Given the description of an element on the screen output the (x, y) to click on. 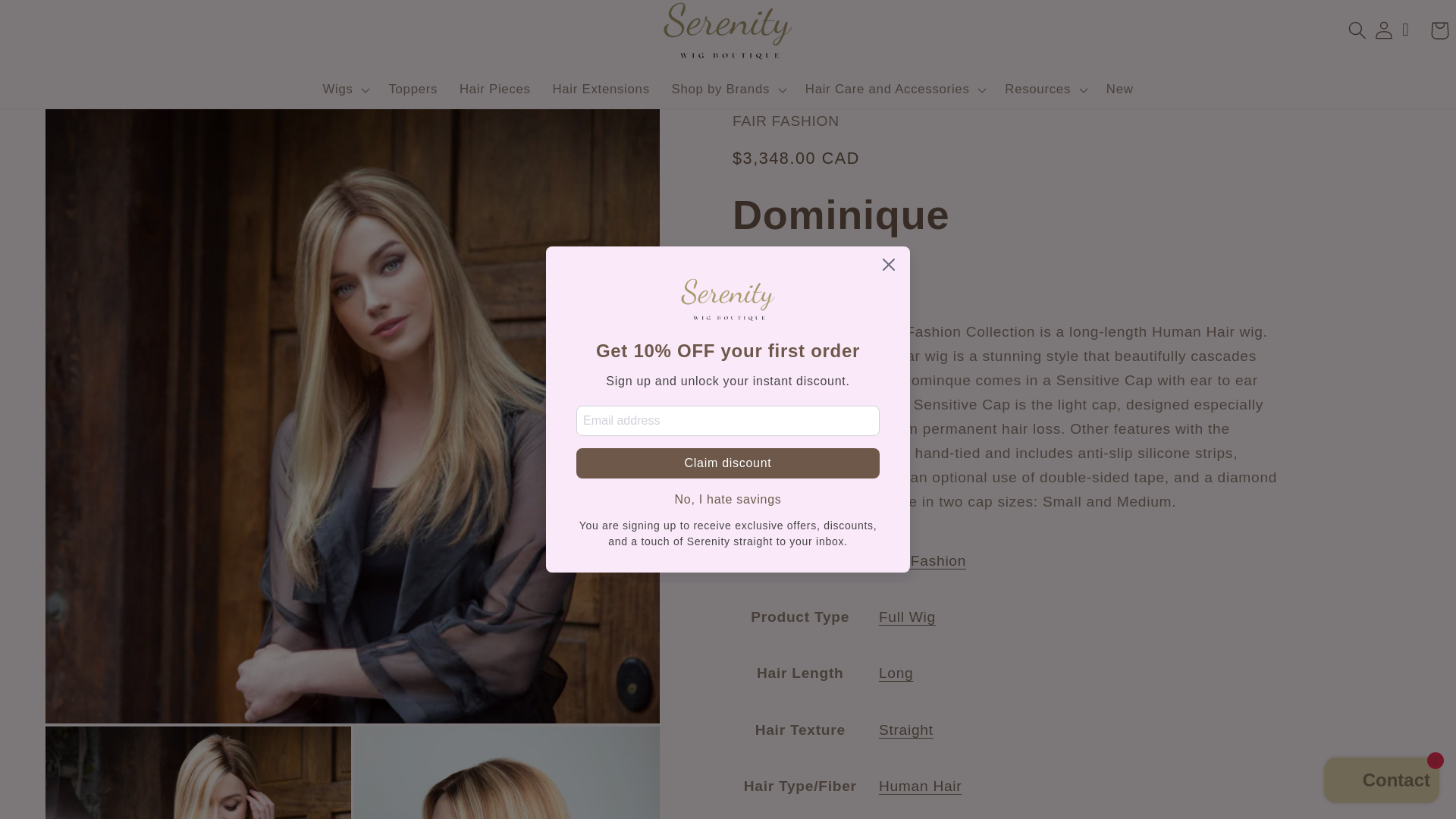
Skip to content (53, 20)
Shopify online store chat (1381, 781)
